Given the description of an element on the screen output the (x, y) to click on. 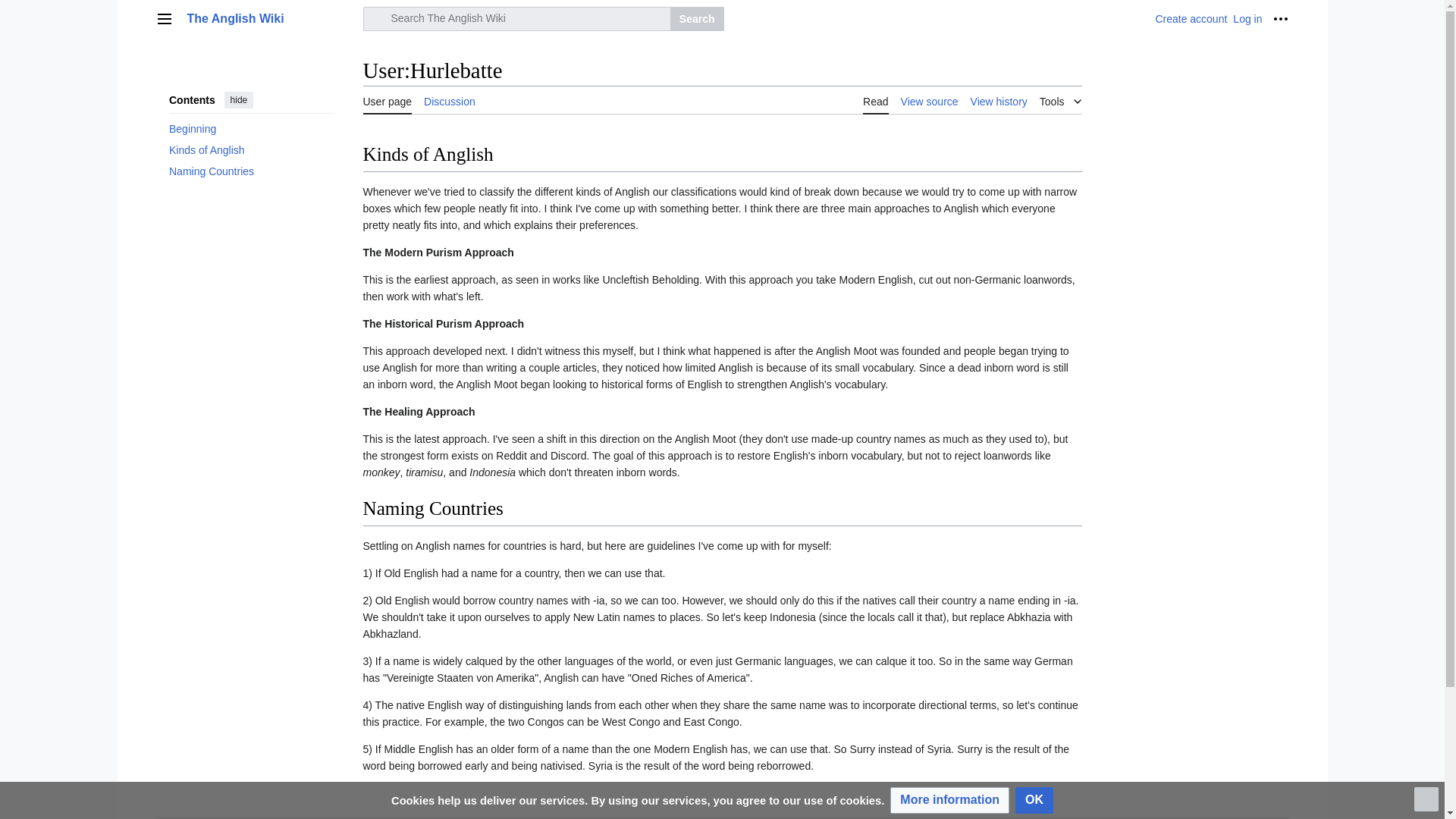
User page (387, 100)
Kinds of Anglish (249, 149)
View source (929, 100)
More options (1280, 18)
Create account (1190, 19)
The Anglish Wiki (270, 18)
Search (696, 18)
View history (999, 100)
Naming Countries (249, 170)
